Given the description of an element on the screen output the (x, y) to click on. 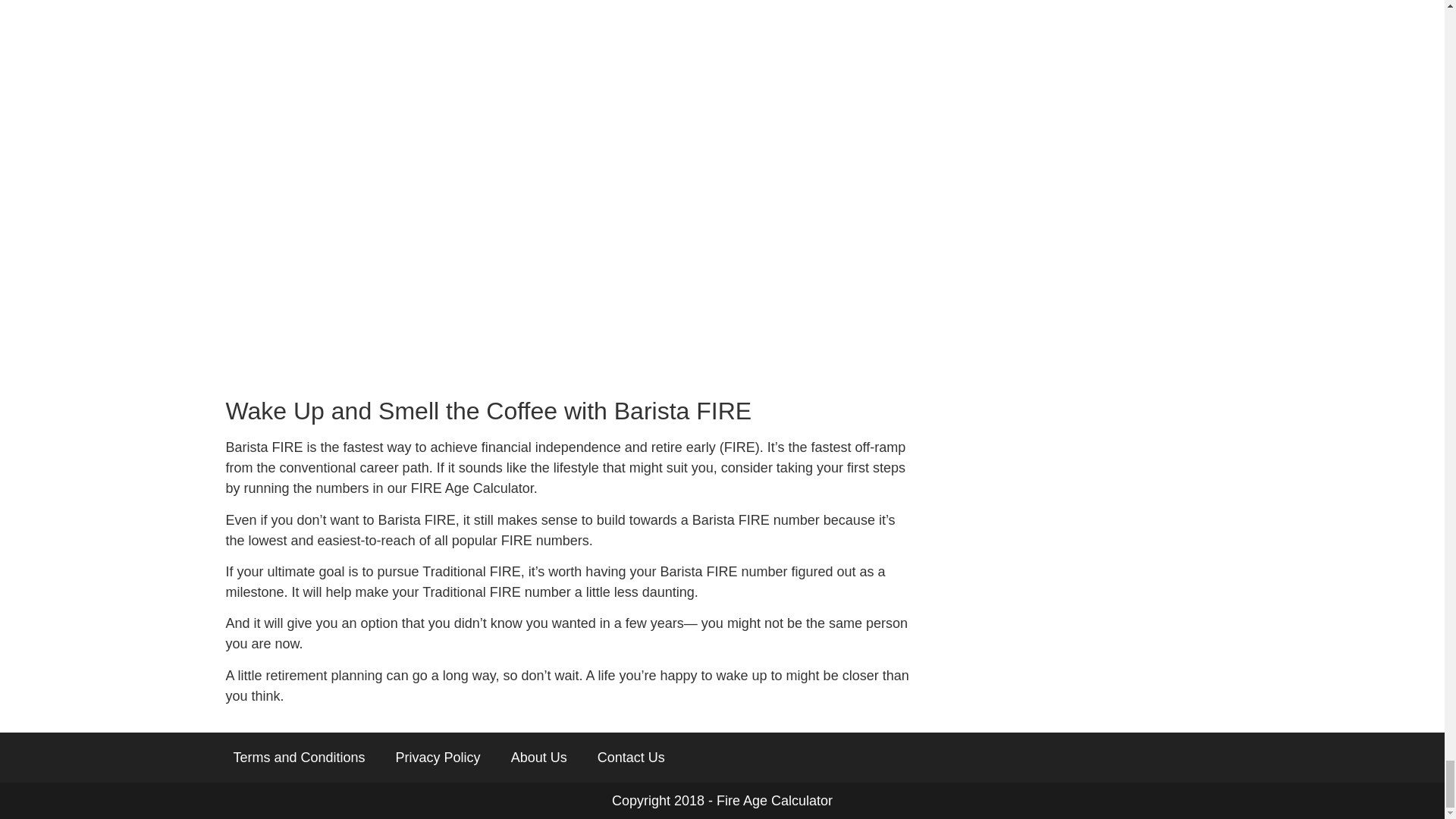
Contact Us (630, 757)
About Us (539, 757)
Privacy Policy (438, 757)
Terms and Conditions (299, 757)
